Given the description of an element on the screen output the (x, y) to click on. 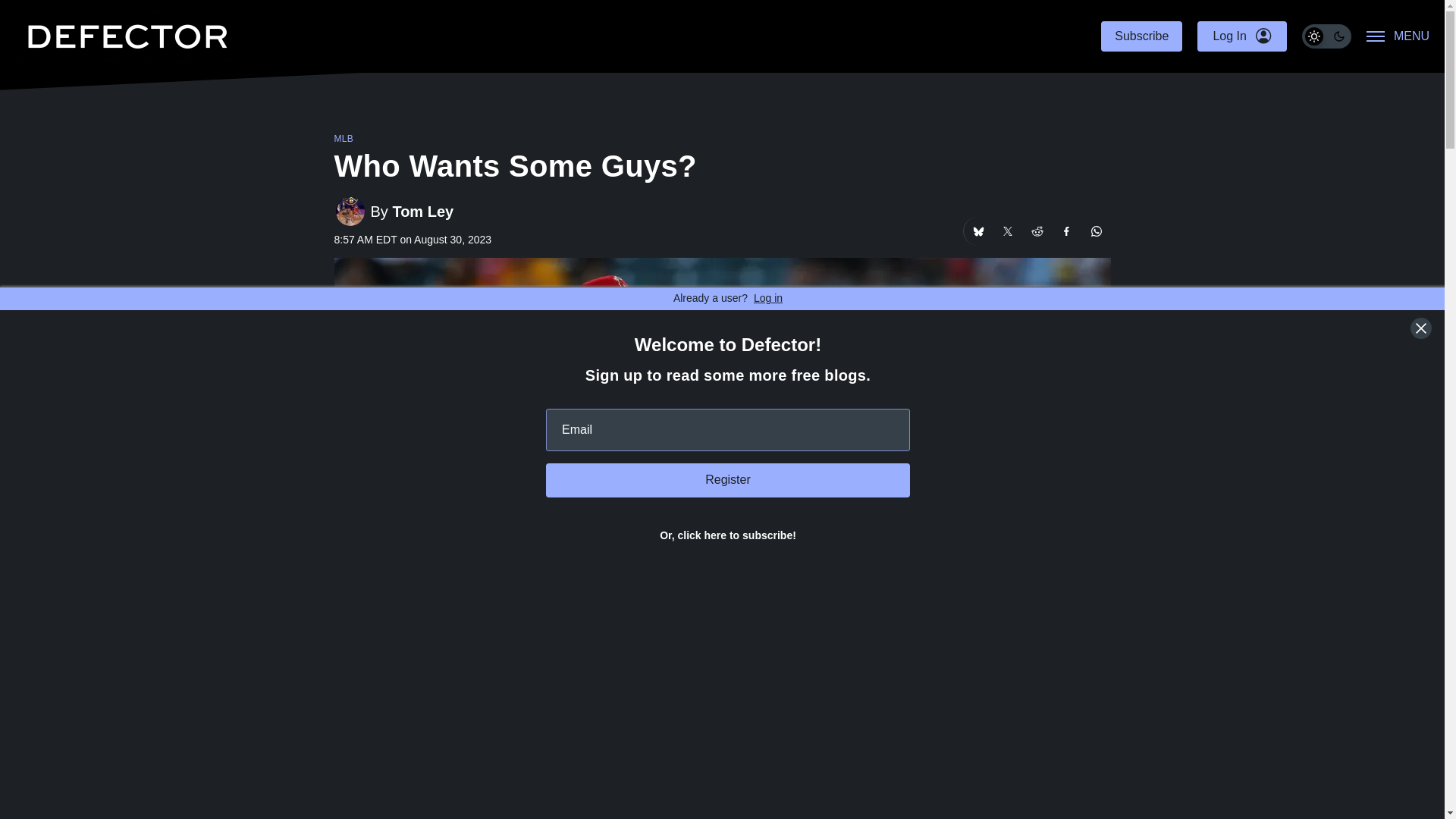
Subscribe (1141, 36)
Tom Ley (421, 211)
MLB (343, 138)
Share on Facebook (1066, 231)
Share on Reddit (1036, 231)
MENU (1398, 36)
Log In (1240, 36)
Share on Bluesky (976, 231)
